Given the description of an element on the screen output the (x, y) to click on. 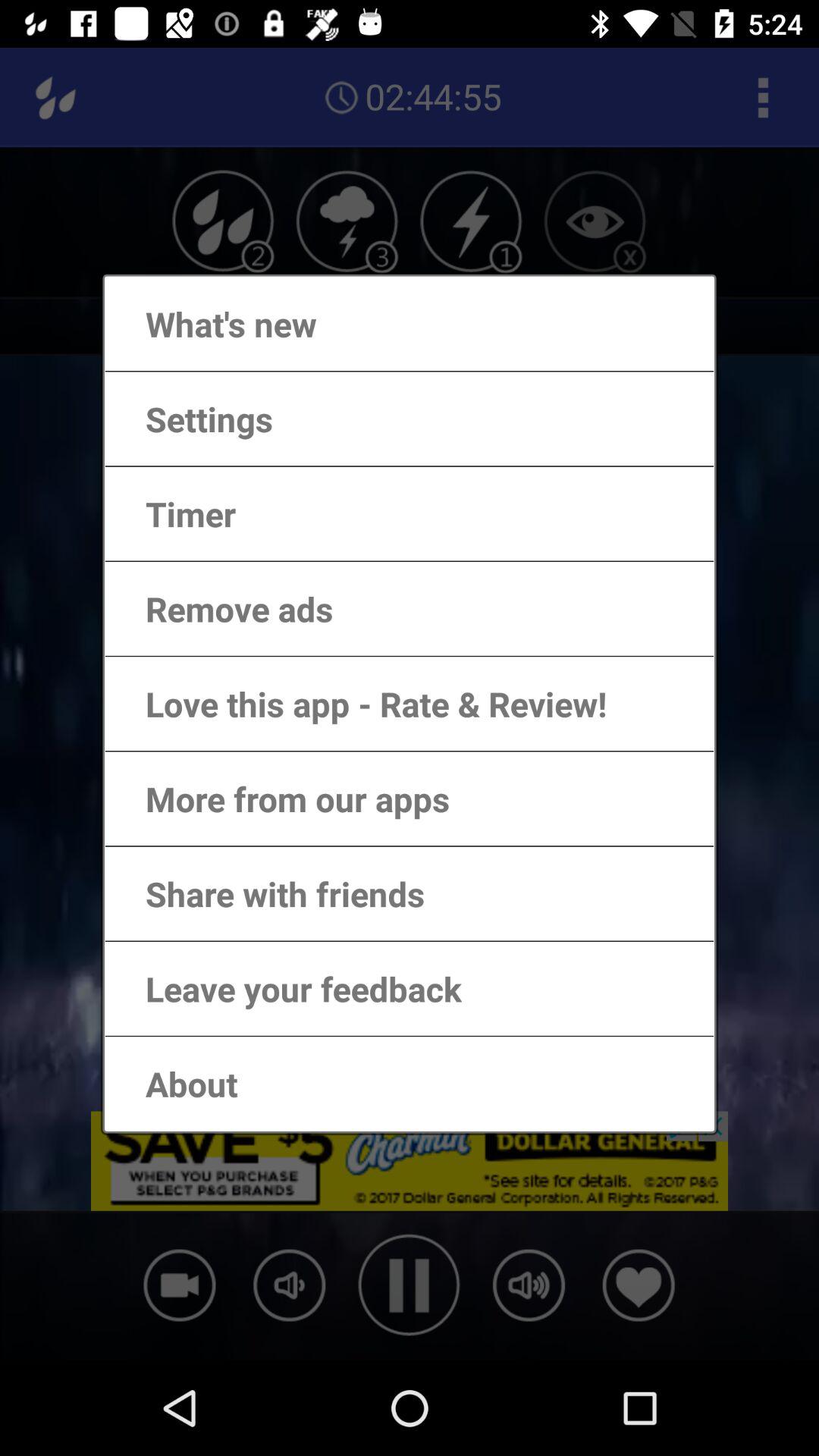
click item below love this app icon (282, 798)
